Given the description of an element on the screen output the (x, y) to click on. 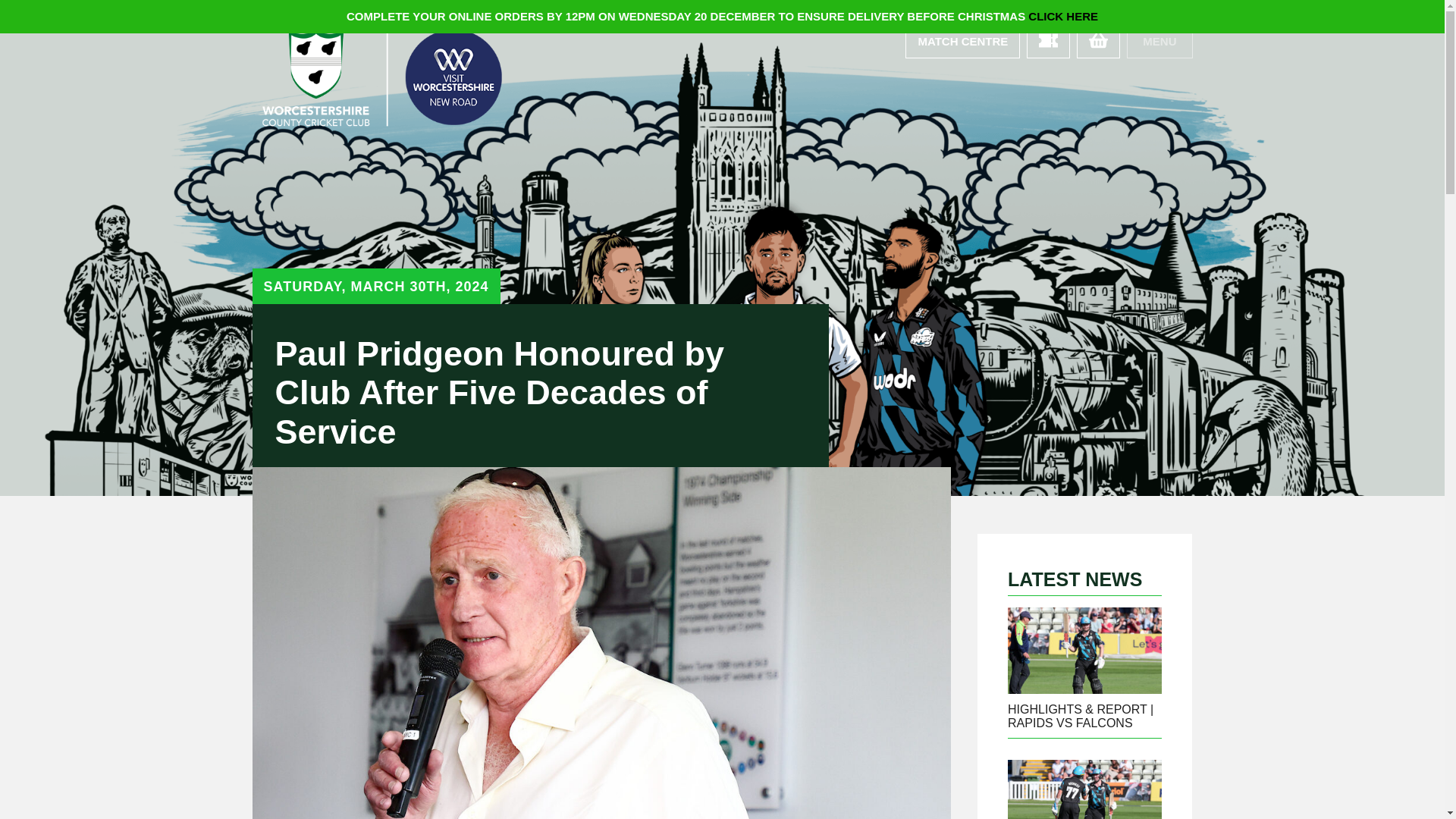
View shop (1098, 40)
MENU (1159, 40)
CLICK HERE (1062, 15)
MATCH CENTRE (962, 40)
View account (962, 40)
Get tickets (1048, 40)
